Given the description of an element on the screen output the (x, y) to click on. 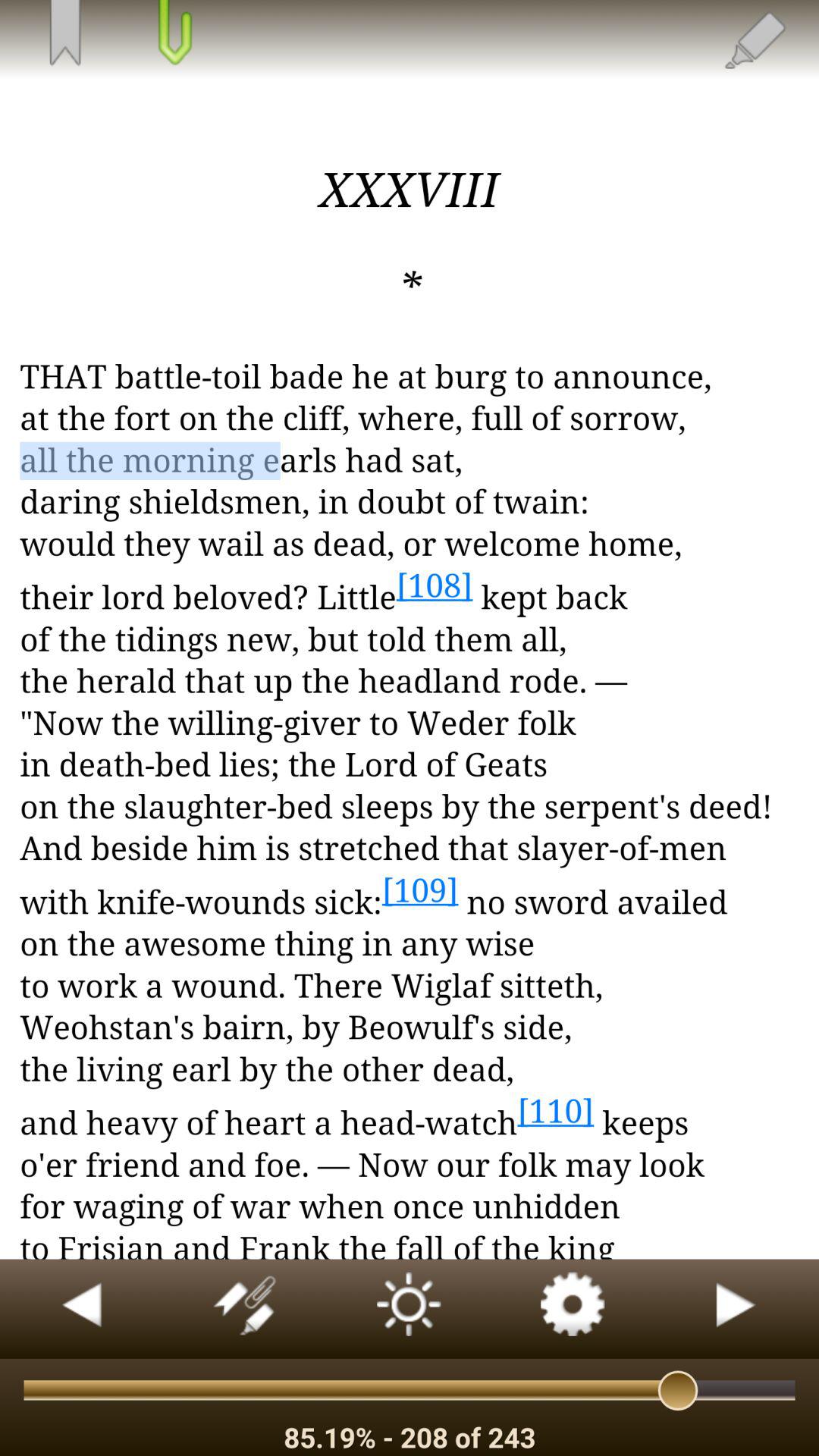
config (573, 1308)
